Given the description of an element on the screen output the (x, y) to click on. 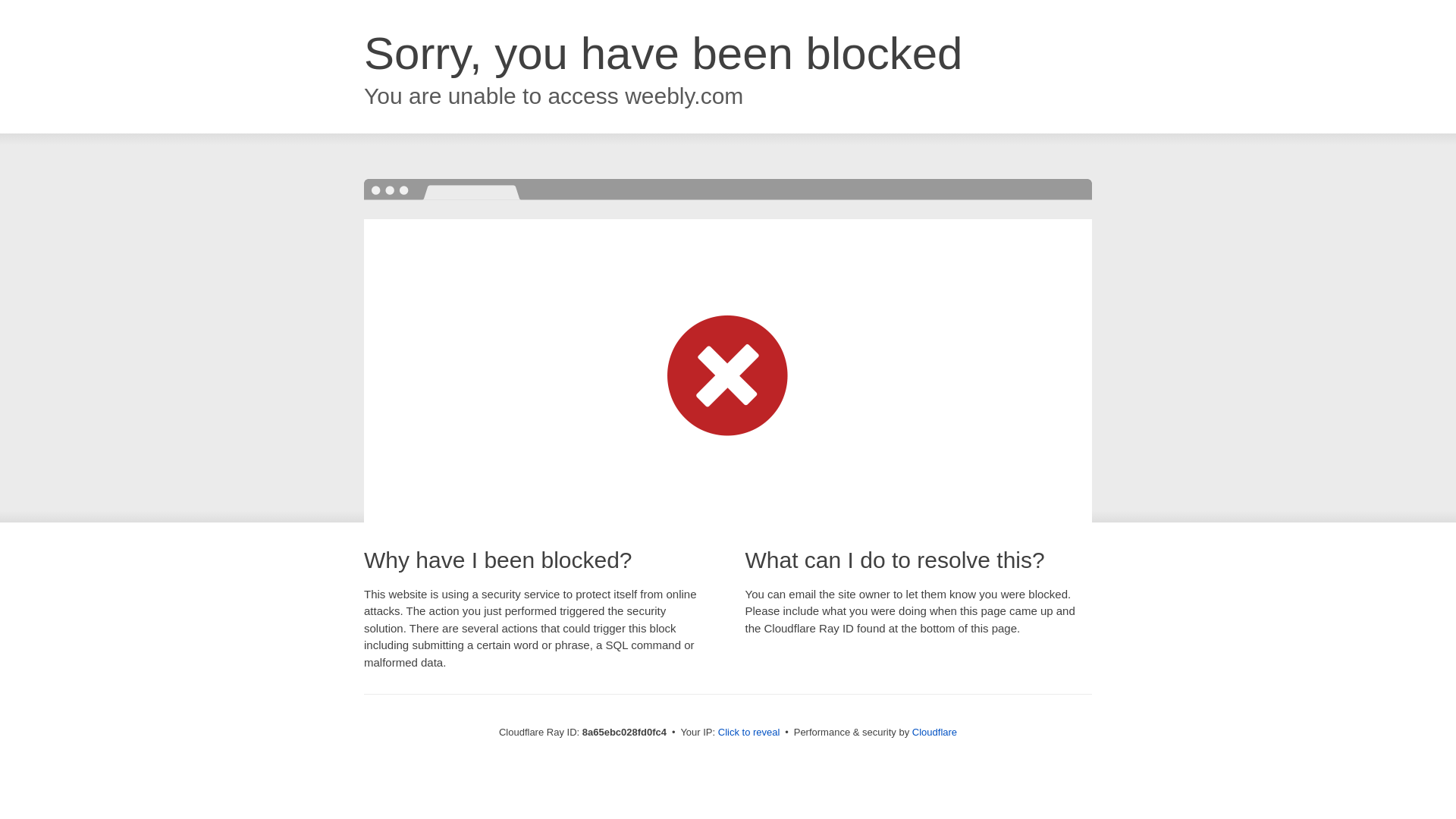
Click to reveal (748, 732)
Cloudflare (934, 731)
